Given the description of an element on the screen output the (x, y) to click on. 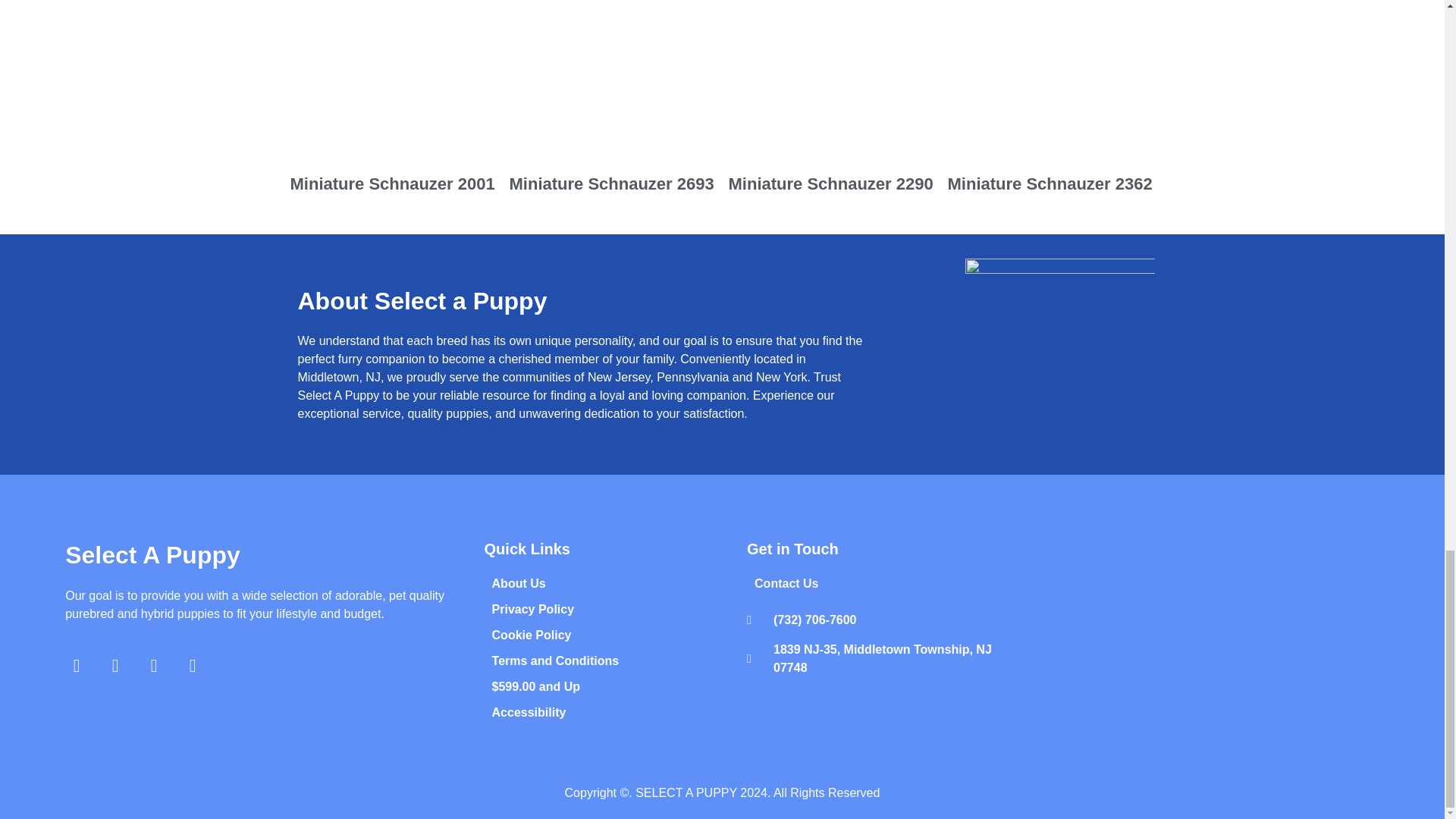
Select A Puppy, 1839 NJ-35, Middletown Township, NJ 07748 (1203, 634)
Privacy Policy (621, 609)
Miniature Schnauzer 2693 (612, 101)
About Us (621, 583)
Cookie Policy (621, 635)
Terms and Conditions (621, 660)
Miniature Schnauzer 2290 (831, 101)
Miniature Schnauzer 2362 (1050, 101)
Select A Puppy (152, 554)
Miniature Schnauzer 2001 (392, 101)
